Given the description of an element on the screen output the (x, y) to click on. 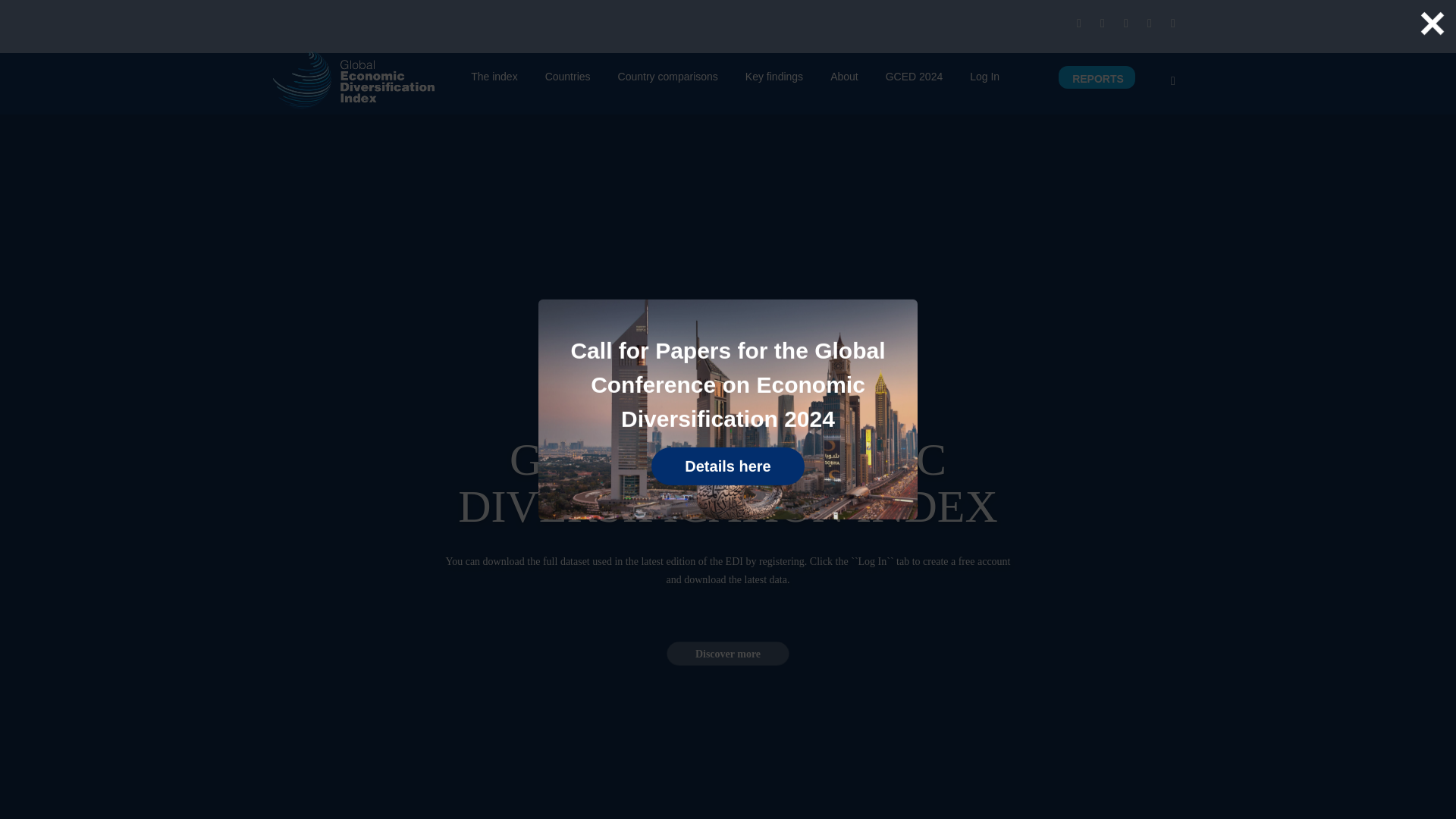
Twitter page opens in new window (1125, 23)
Linkedin page opens in new window (1102, 23)
Key findings (774, 79)
Facebook page opens in new window (1078, 23)
Twitter page opens in new window (1125, 23)
Facebook page opens in new window (1078, 23)
Linkedin page opens in new window (1102, 23)
Instagram page opens in new window (1172, 23)
GCED 2024 (913, 79)
YouTube page opens in new window (1149, 23)
REPORTS (1097, 82)
Instagram page opens in new window (1172, 23)
The index (493, 79)
Country comparisons (667, 79)
Countries (567, 79)
